Given the description of an element on the screen output the (x, y) to click on. 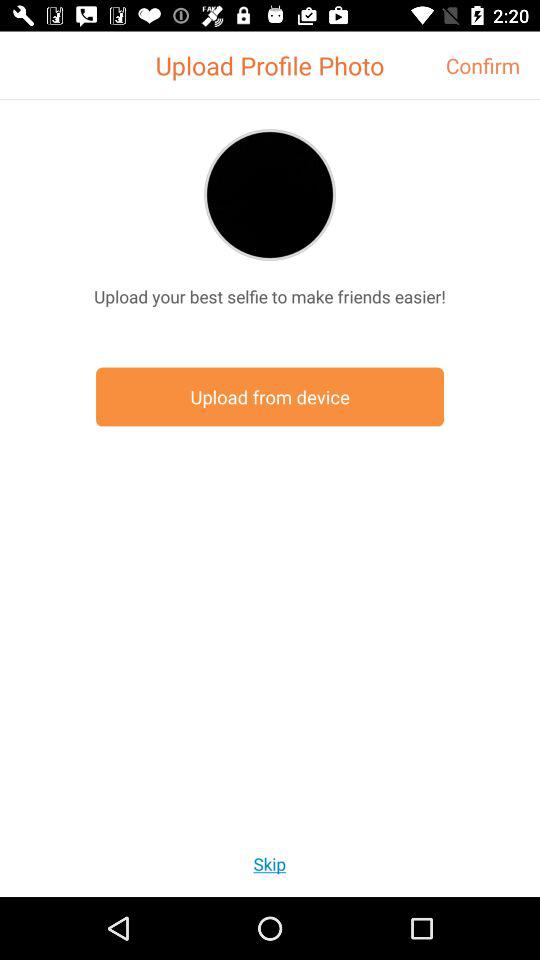
select the upload from device (270, 396)
